Given the description of an element on the screen output the (x, y) to click on. 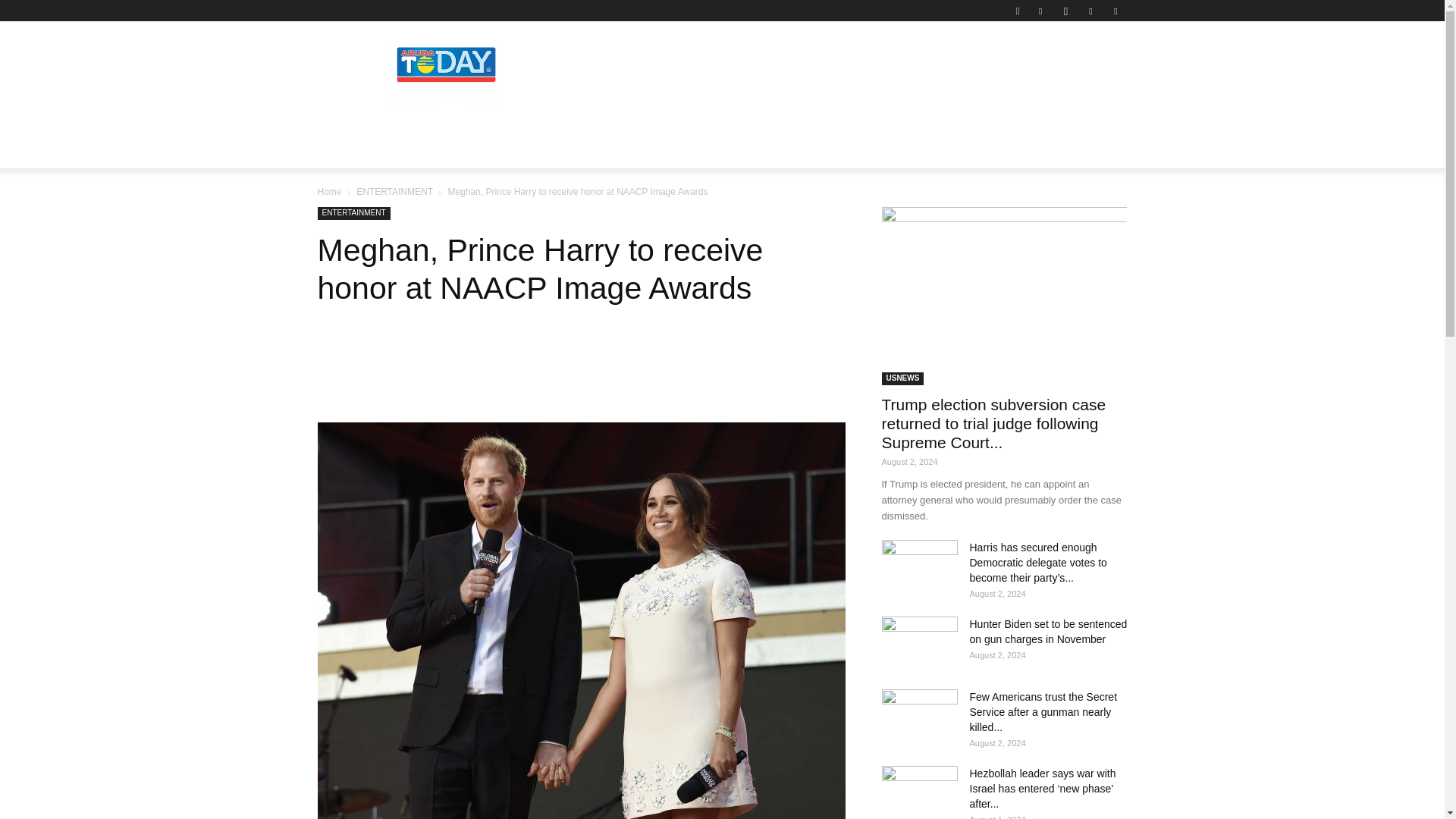
HOME (293, 149)
LOCAL (348, 149)
USNEWS (717, 149)
VIDEO (779, 149)
Search (1085, 64)
VISITORS GALLERY (622, 149)
ARUBA TO ME (426, 149)
View all posts in ENTERTAINMENT (394, 191)
Mail (1090, 10)
HONORINGS (517, 149)
